Given the description of an element on the screen output the (x, y) to click on. 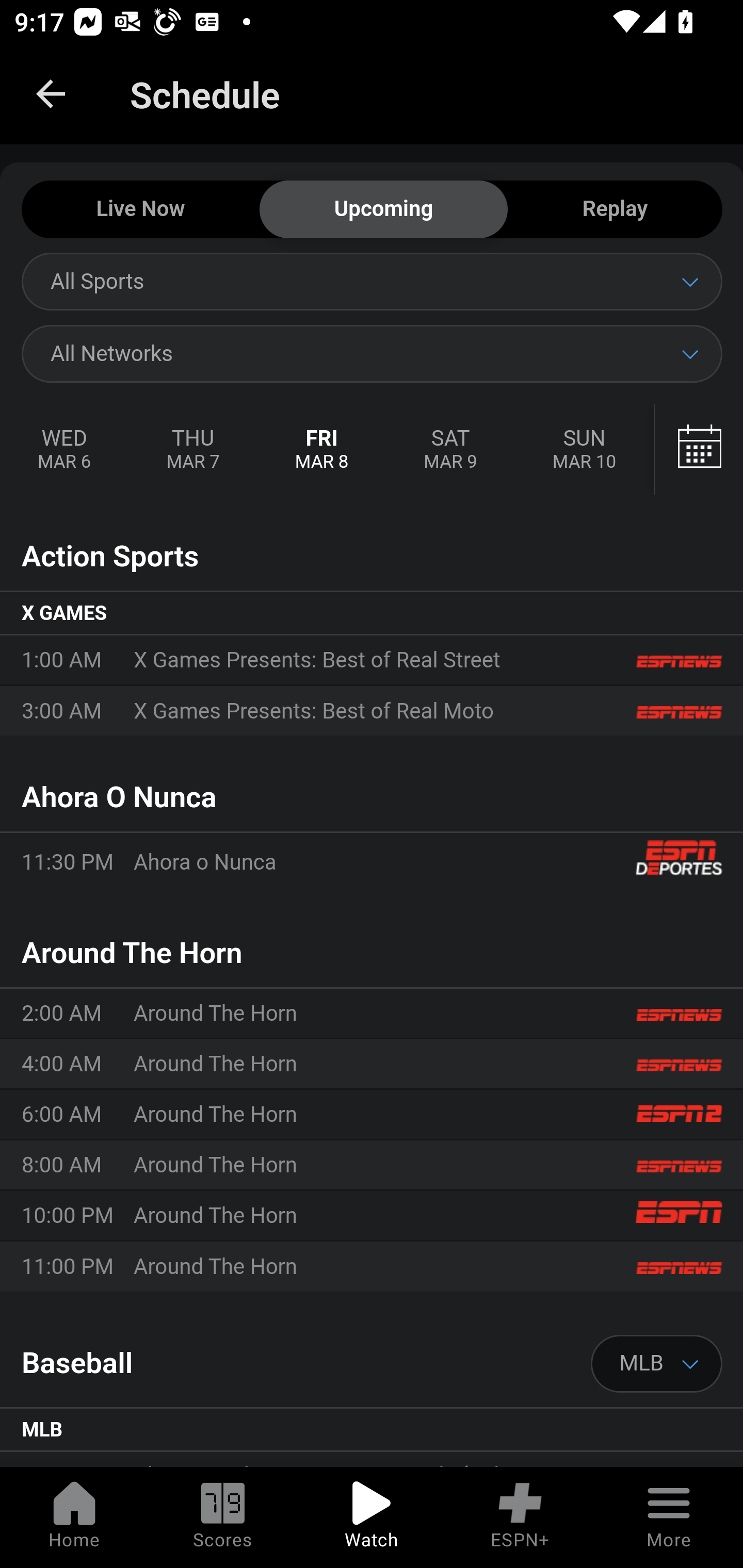
back.button (50, 93)
Live Now (140, 209)
Upcoming (382, 209)
Replay (614, 209)
All Sports (371, 281)
All Networks (371, 353)
Calendar (698, 449)
WED MAR 6 (65, 449)
THU MAR 7 (192, 449)
FRI MAR 8 (321, 449)
SAT MAR 9 (450, 449)
SUN MAR 10 (583, 449)
MLB (657, 1363)
Home (74, 1517)
Scores (222, 1517)
ESPN+ (519, 1517)
More (668, 1517)
